Given the description of an element on the screen output the (x, y) to click on. 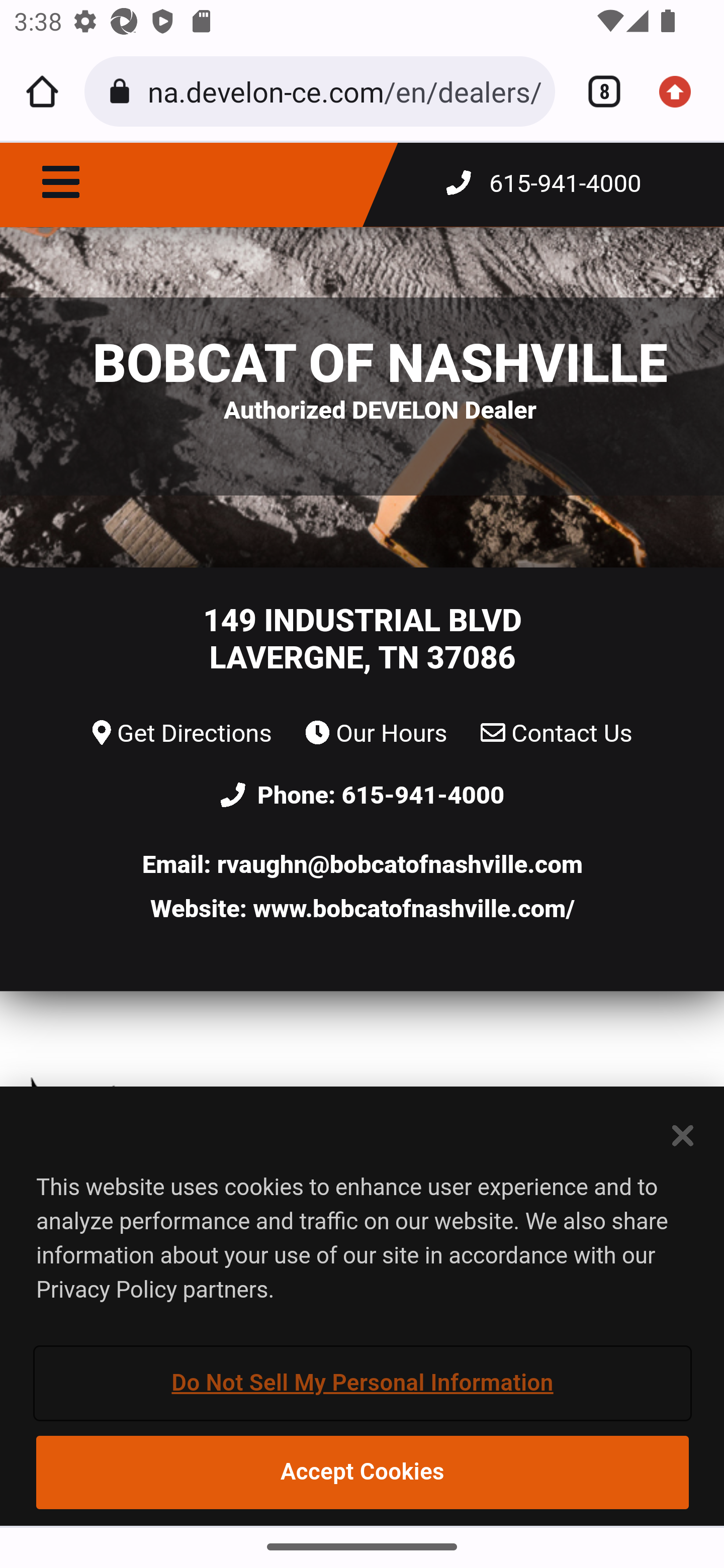
Home (42, 91)
Connection is secure (122, 91)
Switch or close tabs (597, 91)
Update available. More options (681, 91)
   615-941-4000 (543, 183)
 Get Directions Get Directions (181, 733)
 Our Hours Our Hours (376, 733)
 Contact Us Contact Us (556, 733)
615-941-4000 (422, 795)
rvaughn@bobcatofnashville.com (400, 864)
www.bobcatofnashville.com/ (412, 909)
Close (683, 1135)
Do Not Sell My Personal Information (362, 1382)
Accept Cookies (362, 1471)
